Given the description of an element on the screen output the (x, y) to click on. 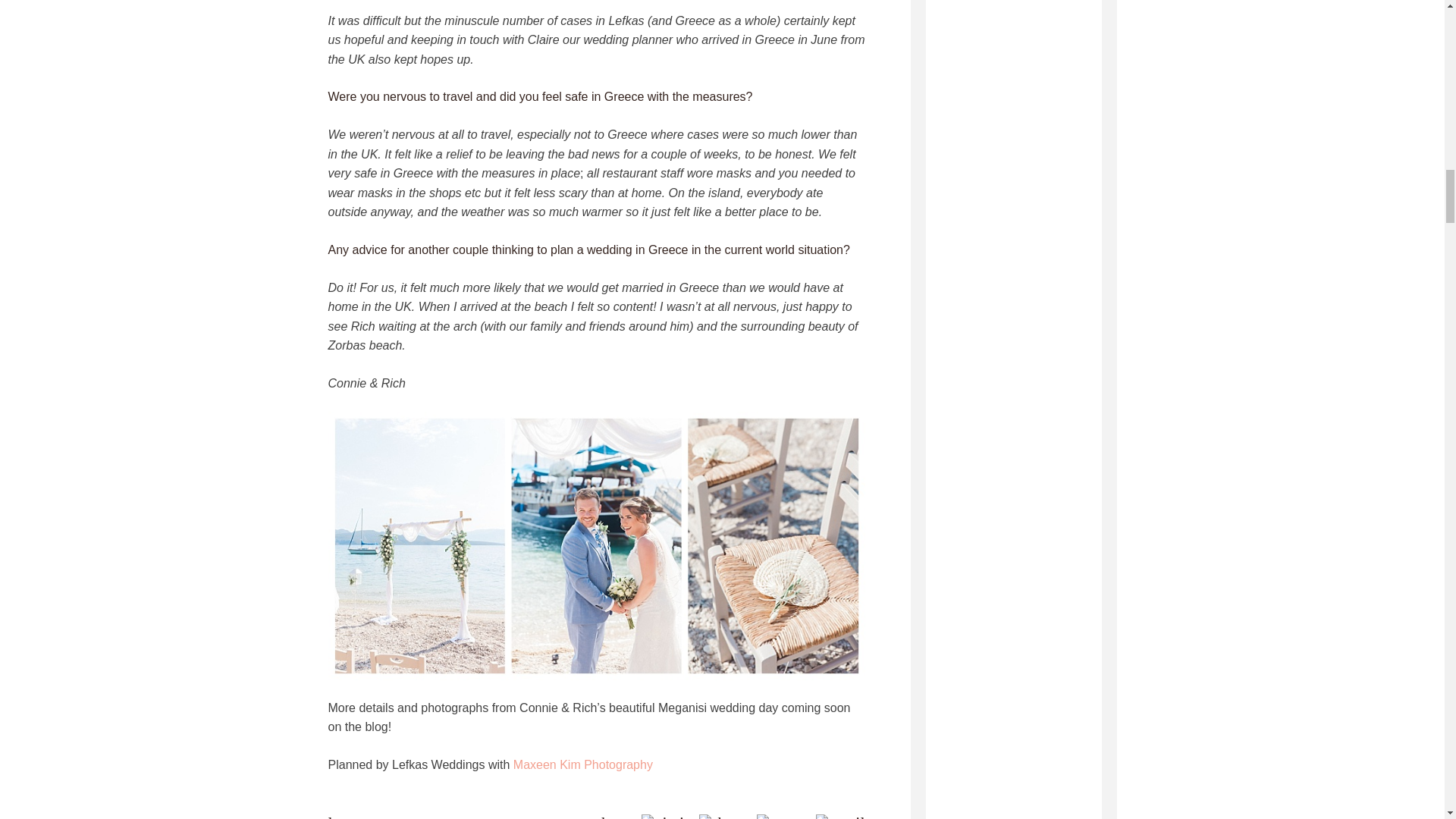
Share by Email (839, 816)
leave a comment (384, 816)
Maxeen Kim Photography (582, 764)
